Given the description of an element on the screen output the (x, y) to click on. 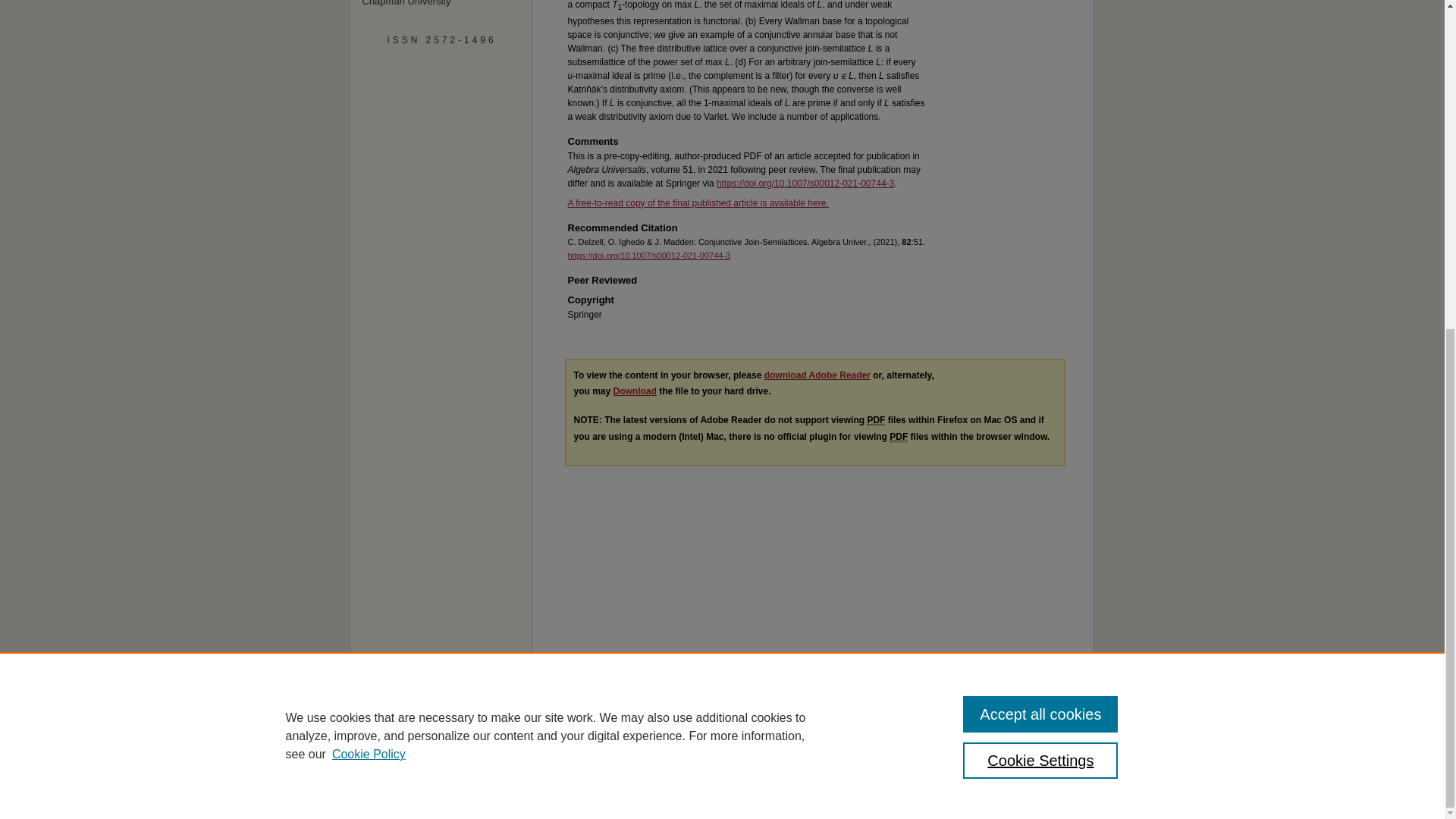
Adobe - Adobe Reader download (817, 375)
Portable Document Format (898, 437)
Download (634, 390)
download Adobe Reader (817, 375)
Portable Document Format (875, 419)
